Given the description of an element on the screen output the (x, y) to click on. 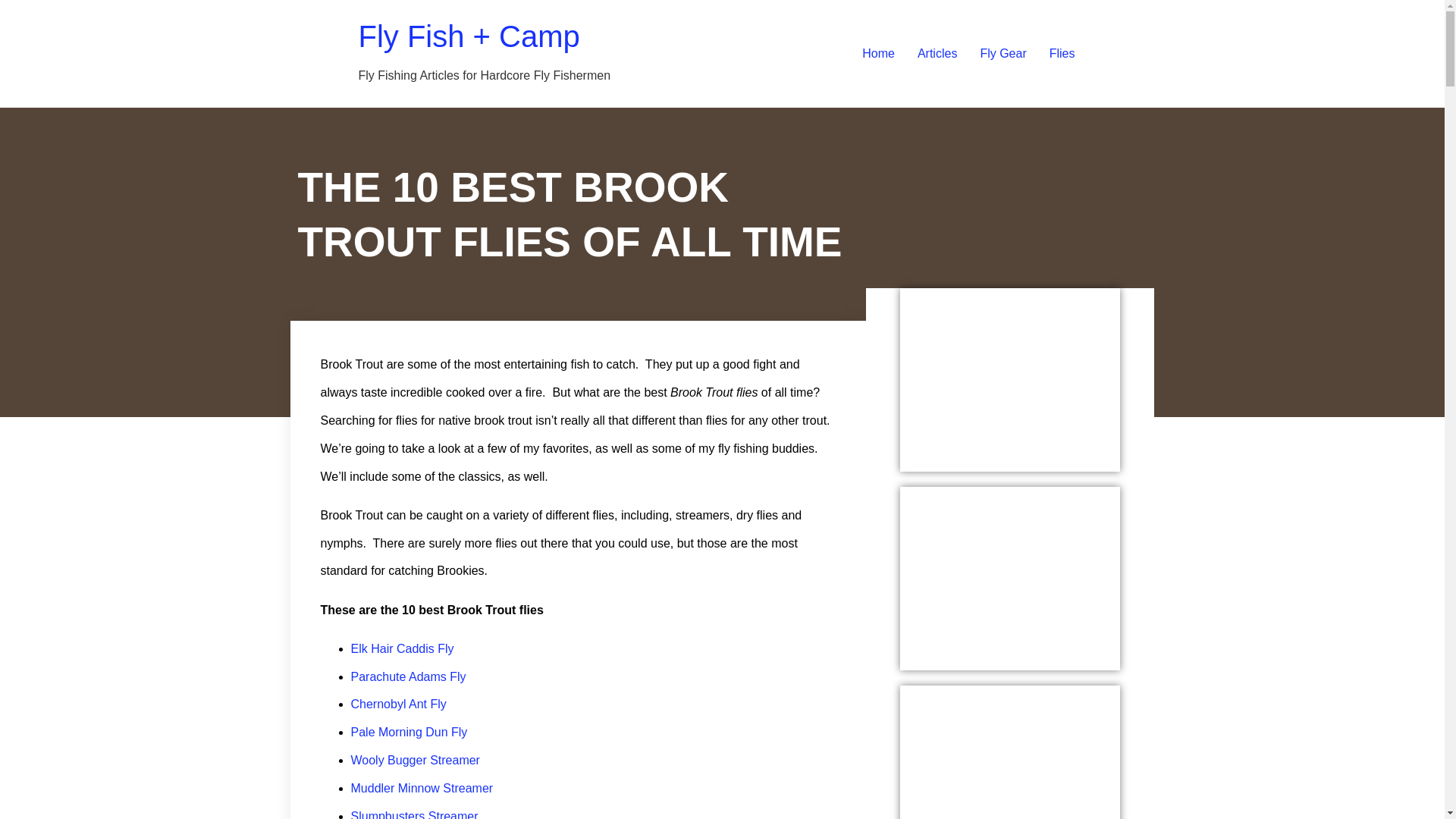
Home (877, 53)
Muddler Minnow Streamer (421, 788)
Pale Morning Dun Fly (408, 731)
Articles (936, 53)
Flies (1062, 53)
Elk Hair Caddis Fly (401, 648)
Chernobyl Ant Fly (397, 703)
Home (468, 36)
Fly Gear (1002, 53)
Slumpbusters Streamer (413, 814)
